Given the description of an element on the screen output the (x, y) to click on. 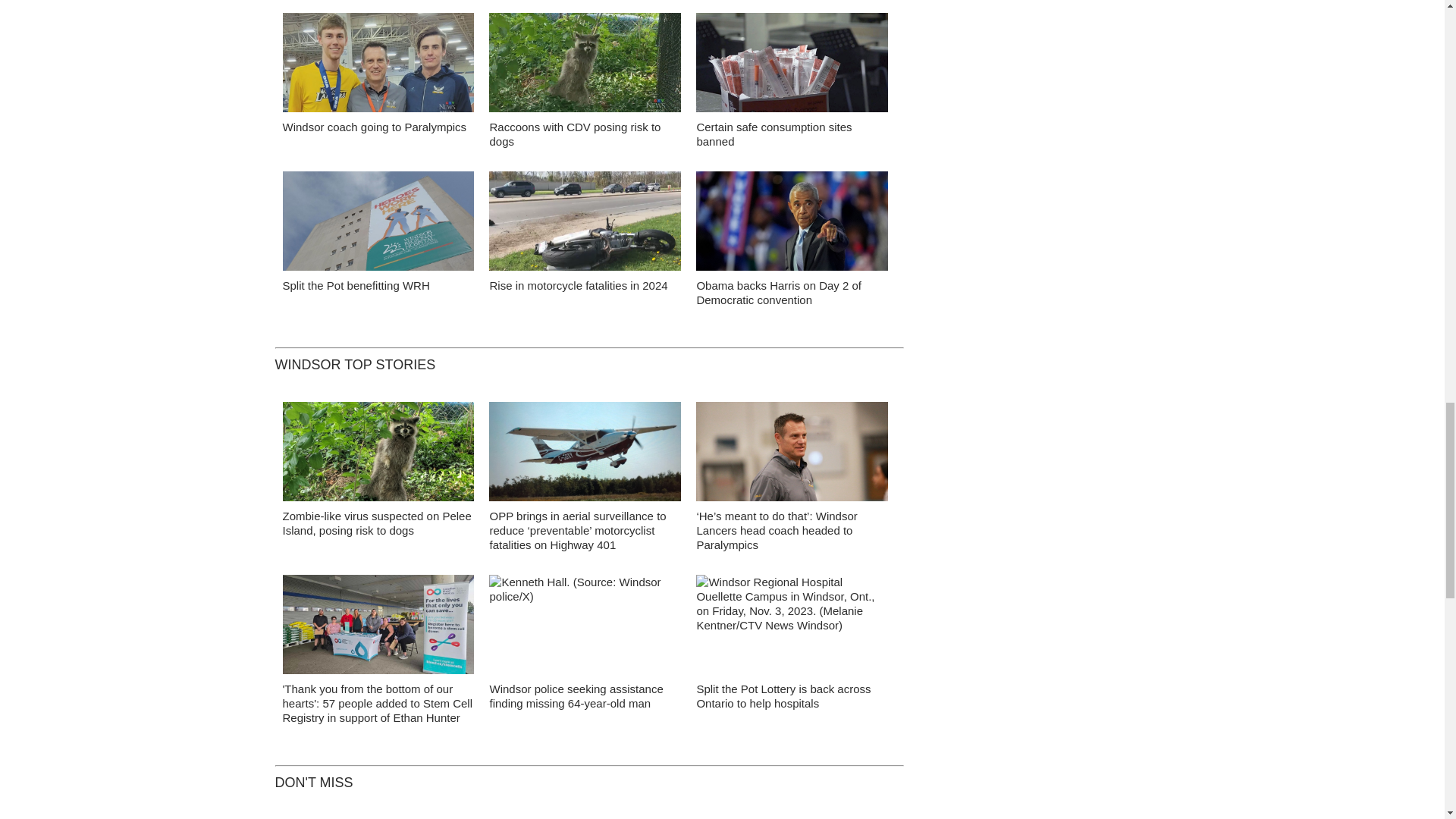
Windsor coach going to Paralympics (378, 66)
Certain safe consumption sites banned (773, 134)
Motorcycle crash (585, 225)
false (585, 221)
Raccoons with CDV posing risk to dogs (575, 134)
false (791, 221)
false (378, 62)
Windsor coach going to Paralympics (373, 126)
Stem cell event (378, 628)
brett lumley - july 2024 (791, 455)
